Given the description of an element on the screen output the (x, y) to click on. 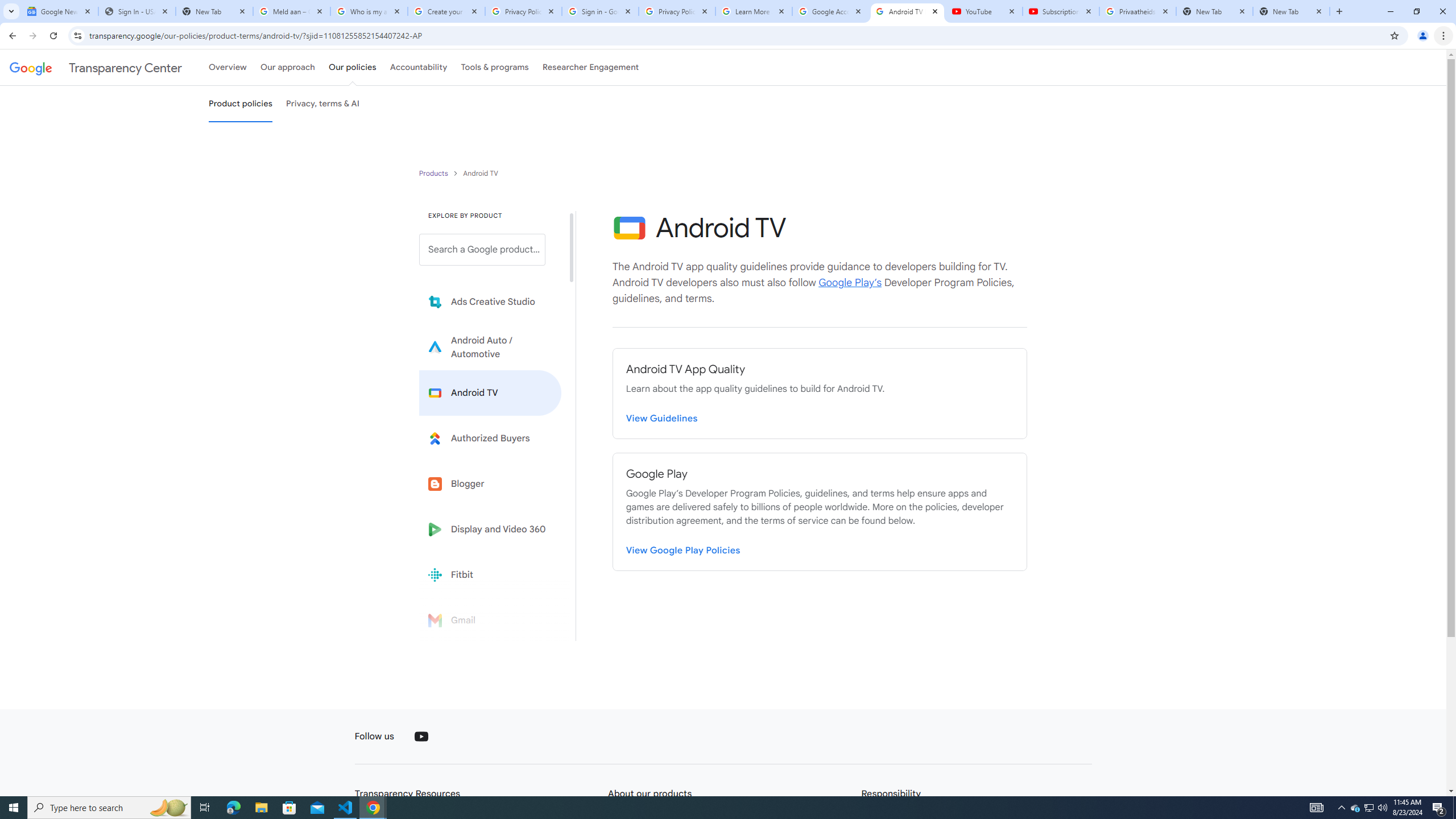
Display and Video 360 (490, 529)
Learn more about Ads Creative Studio (490, 302)
Gmail (490, 619)
Google Account (830, 11)
Google News (59, 11)
Learn more about Authorized Buyers (490, 438)
Learn more about Authorized Buyers (490, 438)
Create your Google Account (446, 11)
Transparency Center (95, 67)
Learn more about Android TV (490, 393)
